Given the description of an element on the screen output the (x, y) to click on. 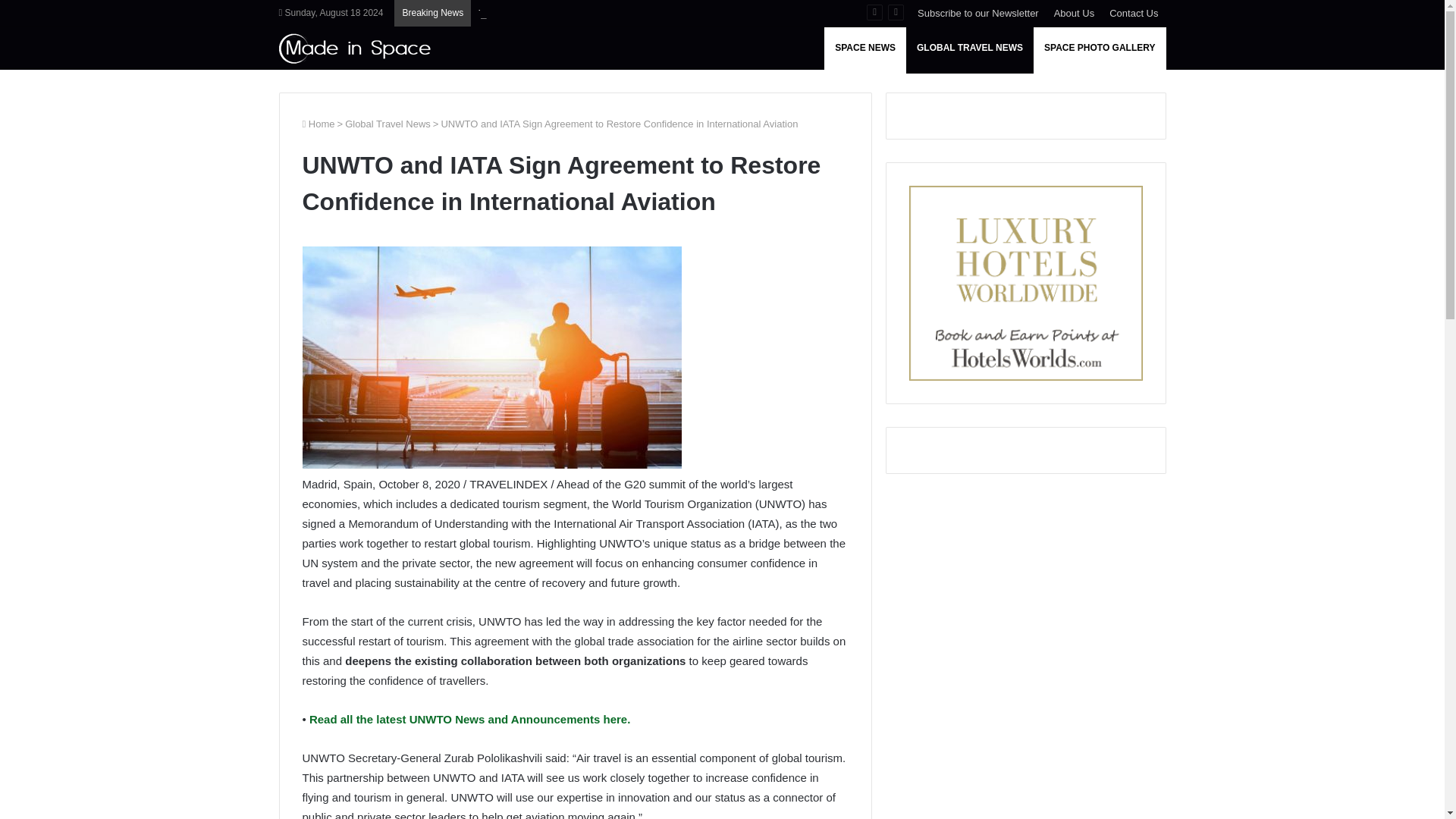
SPACE NEWS (864, 47)
Made in Space (354, 47)
About Us (1074, 13)
Home (317, 123)
The Macroeconomics of Space Symposium  (575, 12)
Global Travel News (387, 123)
Contact Us (1134, 13)
Subscribe to our Newsletter (978, 13)
GLOBAL TRAVEL NEWS (969, 47)
